Given the description of an element on the screen output the (x, y) to click on. 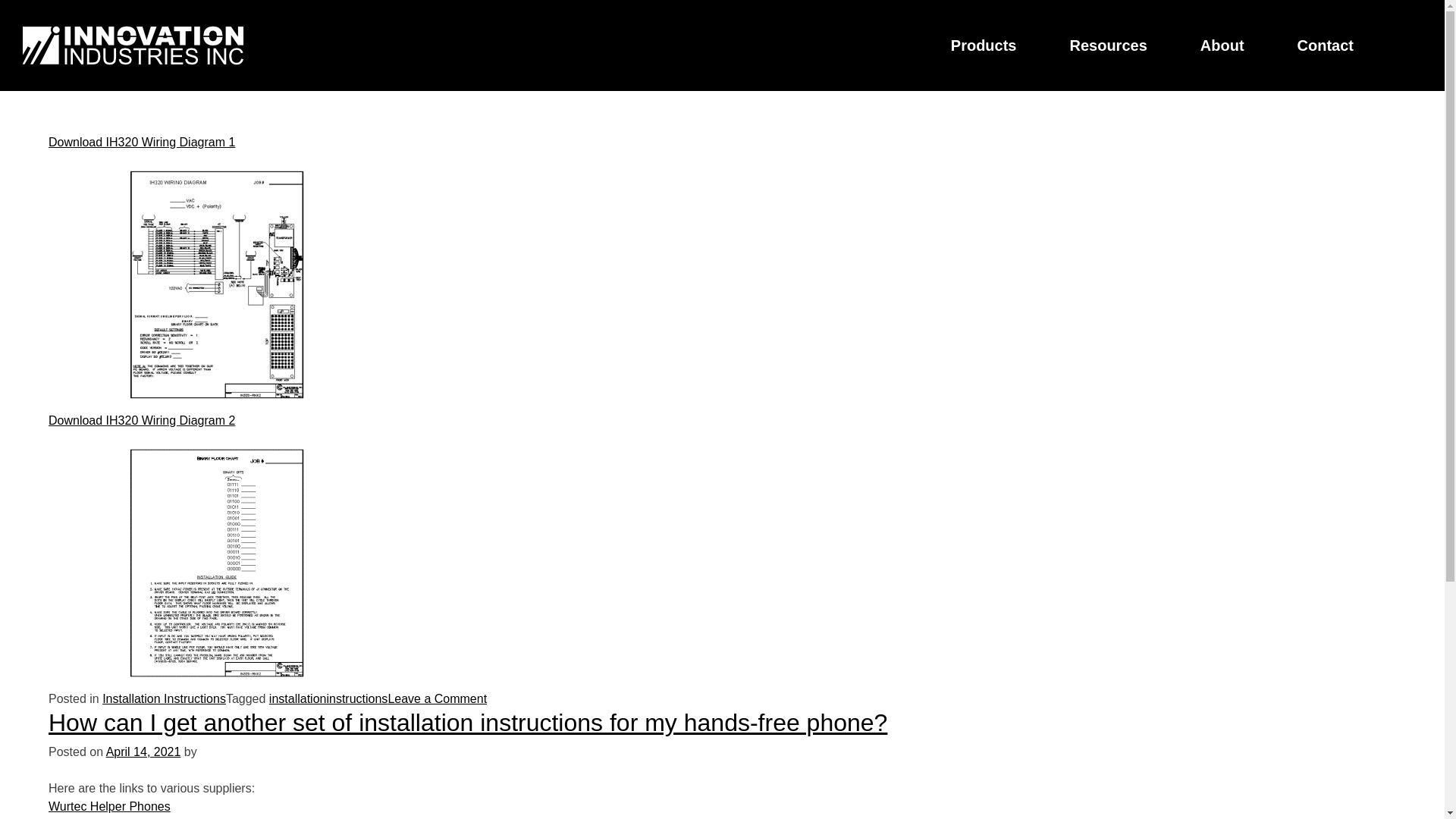
Download IH320 Wiring Diagram 1 (141, 141)
Wurtec Helper Phones (109, 806)
Installation Instructions (163, 698)
Download IH320 Wiring Diagram 2 (141, 420)
April 14, 2021 (143, 751)
Contact (1325, 45)
Products (984, 45)
About (1222, 45)
Resources (1107, 45)
installationinstructions (328, 698)
